Given the description of an element on the screen output the (x, y) to click on. 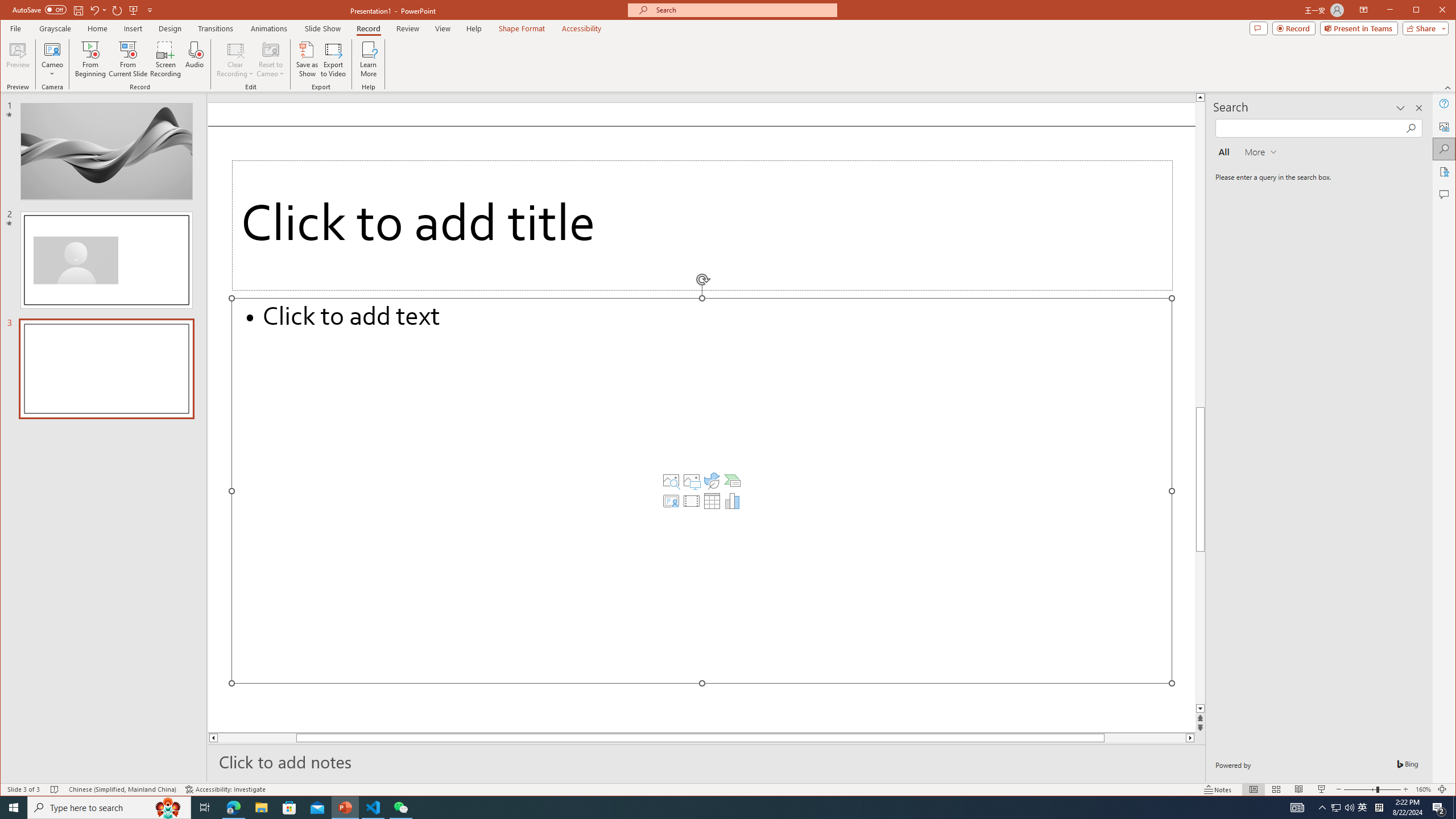
Accessibility Checker Accessibility: Investigate (225, 789)
